Given the description of an element on the screen output the (x, y) to click on. 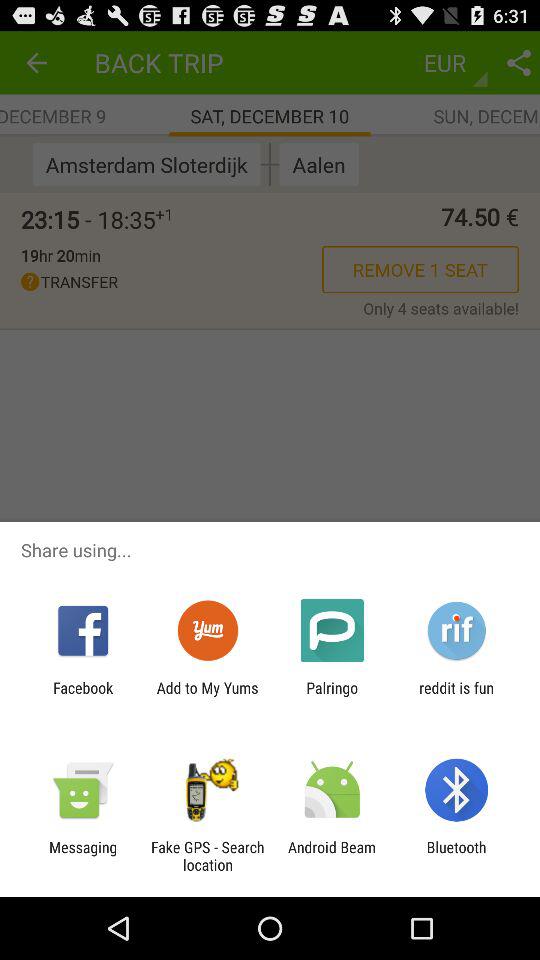
scroll to android beam (332, 856)
